Given the description of an element on the screen output the (x, y) to click on. 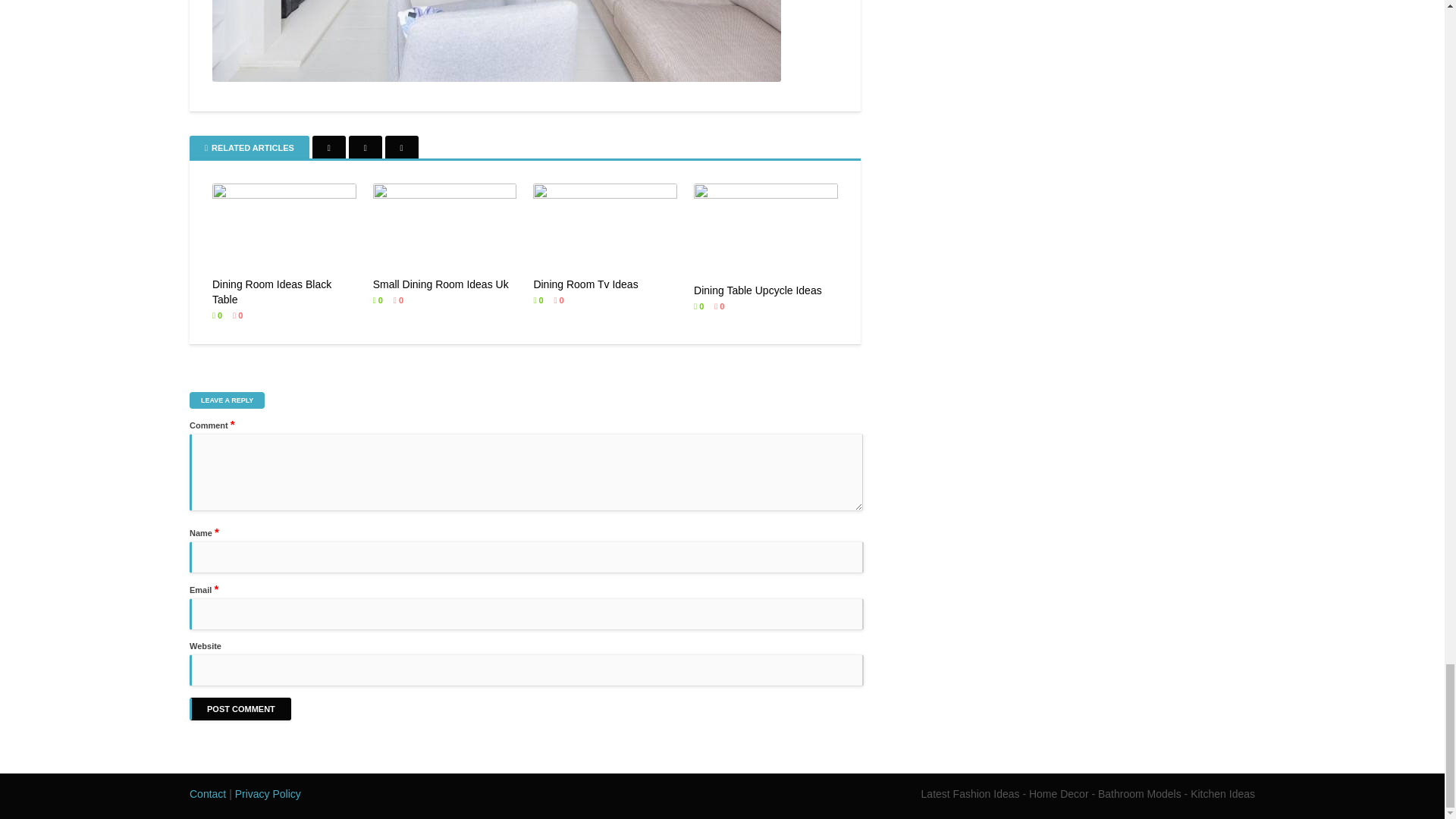
Dining Table Upcycle Ideas (766, 337)
Dining Room Tv Ideas (604, 328)
Dining Room Tv Ideas (604, 328)
Dining Table Upcycle Ideas (766, 337)
Dining Room Ideas Black Table (284, 335)
Dining Room Ideas Black Table (284, 335)
Contact (207, 793)
RELATED ARTICLES (248, 146)
Post Comment (240, 708)
Small Dining Room Ideas Uk (444, 328)
Post Comment (240, 708)
Privacy Policy (267, 793)
Small Dining Room Ideas Uk (444, 328)
